Given the description of an element on the screen output the (x, y) to click on. 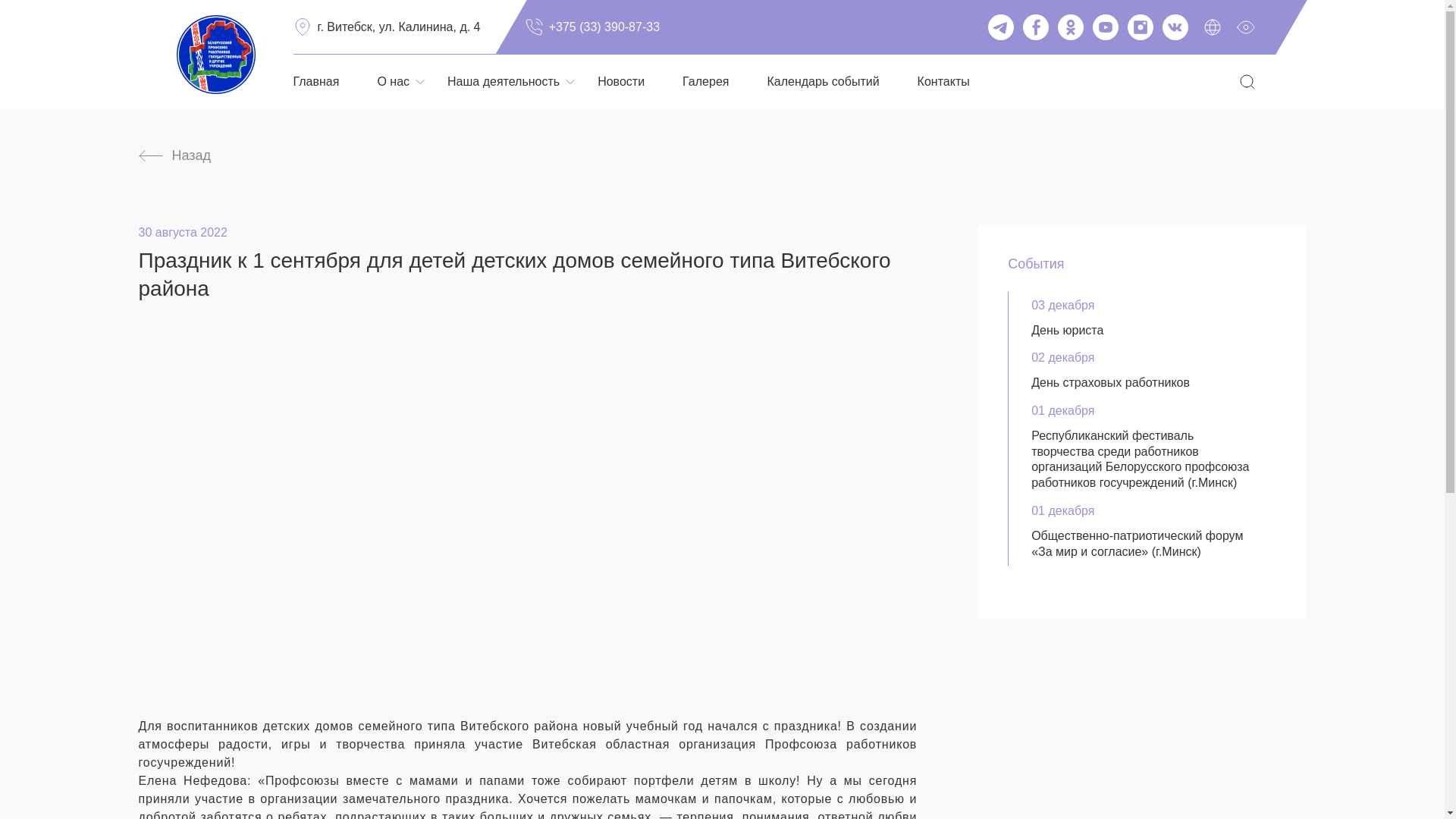
+375 (33) 390-87-33 Element type: text (591, 27)
